Given the description of an element on the screen output the (x, y) to click on. 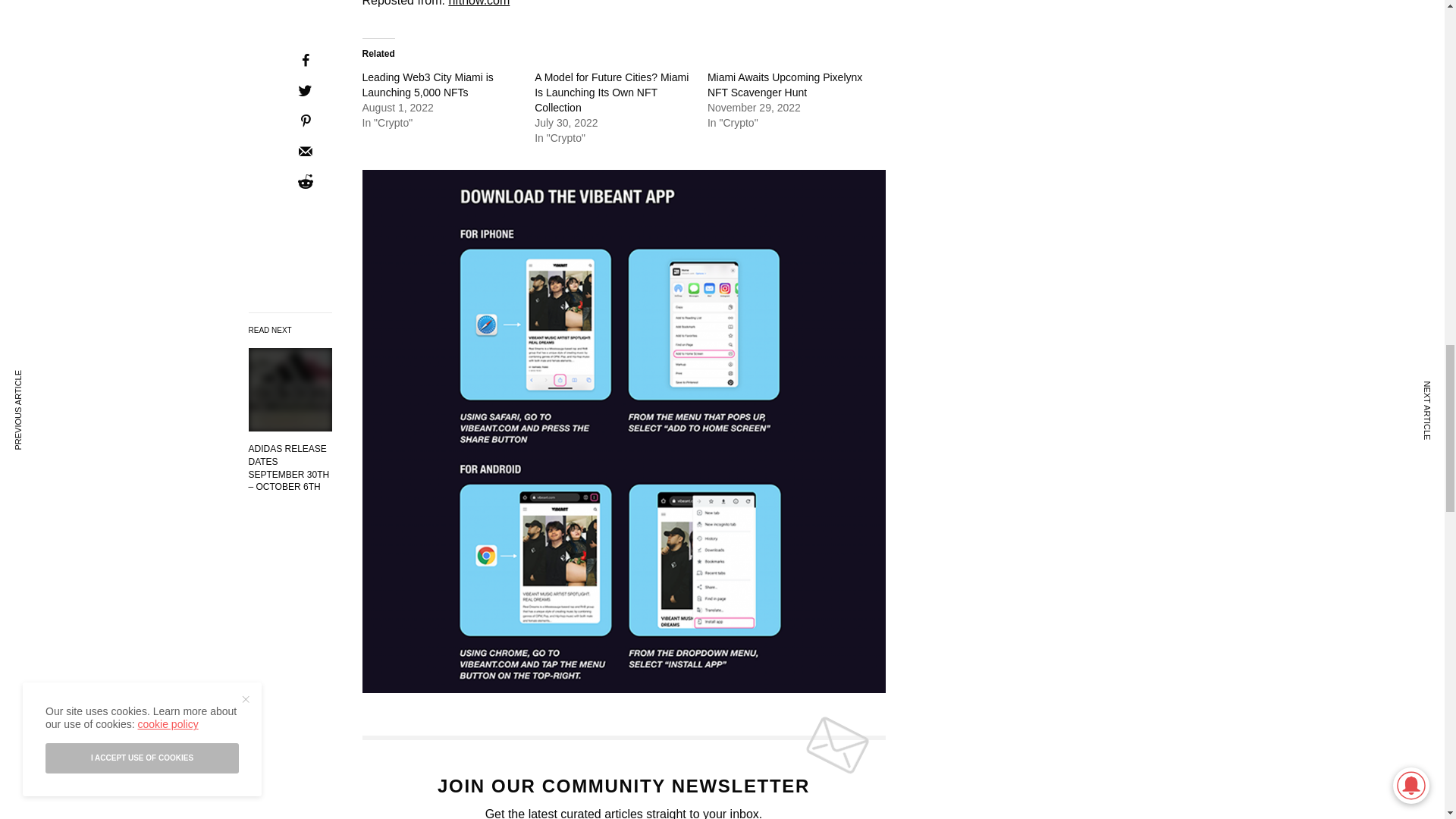
Leading Web3 City Miami is Launching 5,000 NFTs (427, 84)
Miami Awaits Upcoming Pixelynx NFT Scavenger Hunt (784, 84)
